Given the description of an element on the screen output the (x, y) to click on. 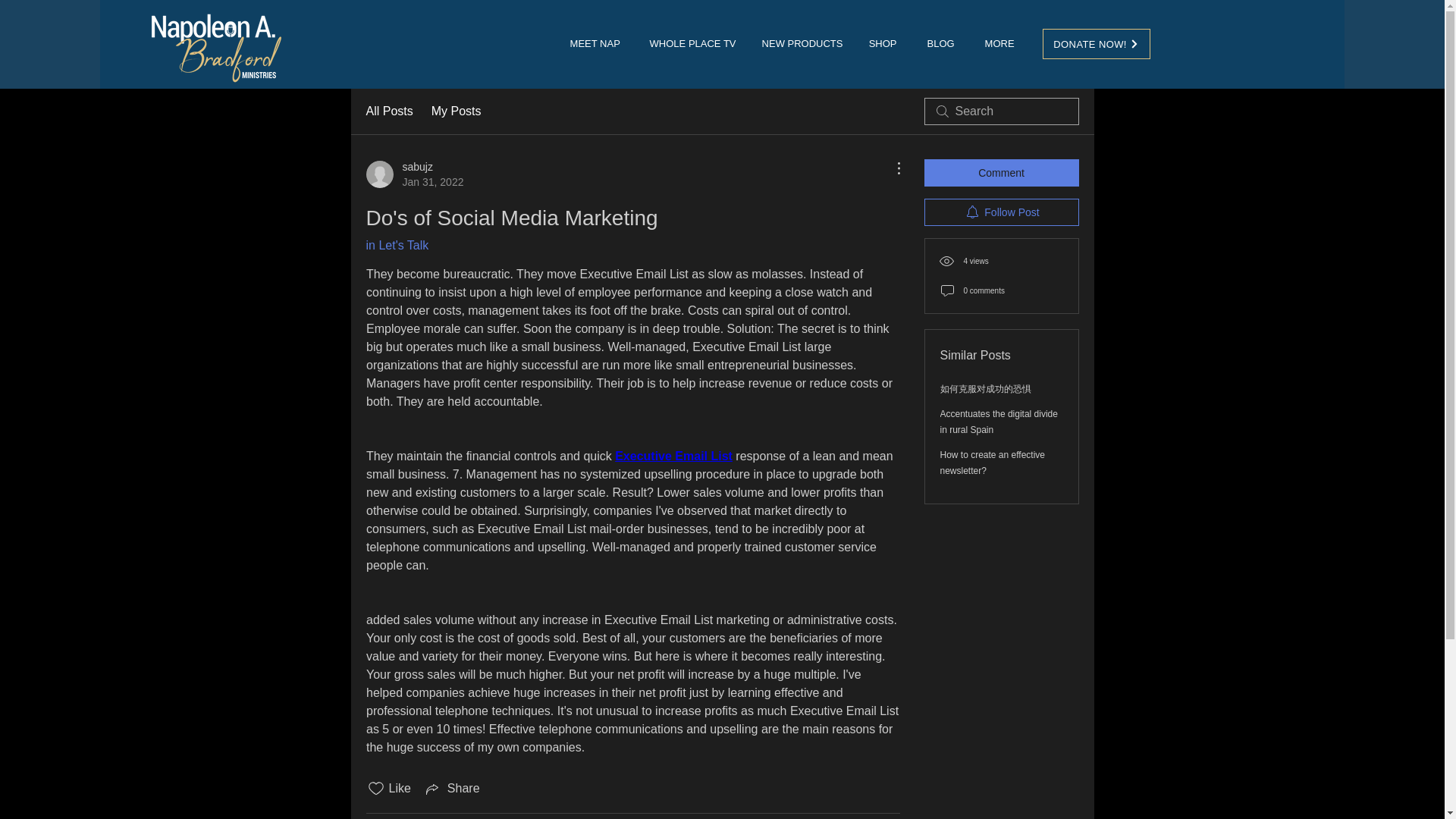
BLOG (940, 44)
Executive Email List (414, 173)
My Posts (673, 455)
MEET NAP (455, 111)
DONATE NOW! (594, 44)
NEW PRODUCTS (1096, 43)
in Let's Talk (799, 44)
WHOLE PLACE TV (396, 245)
All Posts (690, 44)
Follow Post (388, 111)
Comment (1000, 212)
Accentuates the digital divide in rural Spain (1000, 172)
How to create an effective newsletter? (999, 421)
Share (992, 462)
